Given the description of an element on the screen output the (x, y) to click on. 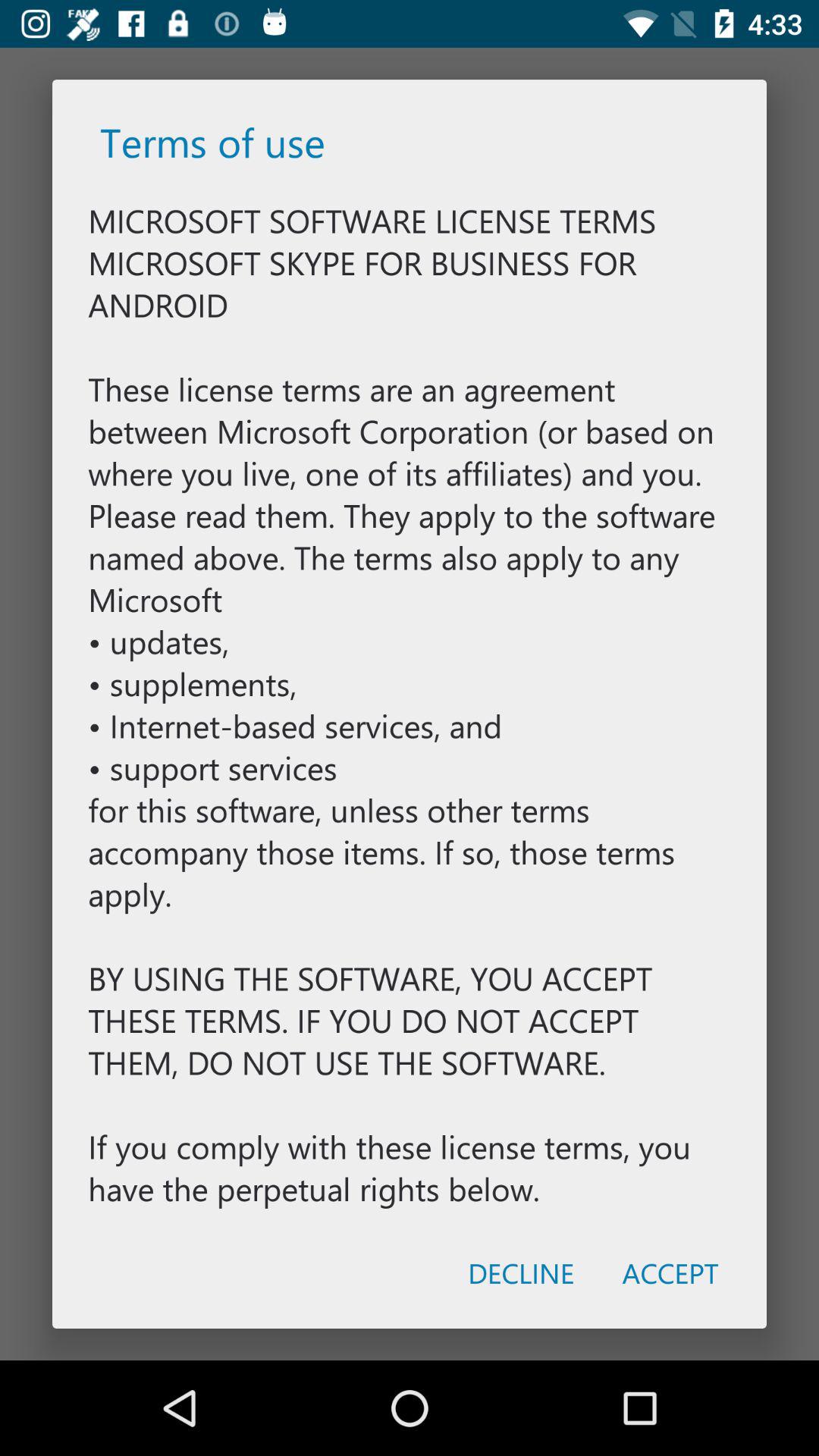
click app below the microsoft software license icon (670, 1272)
